Given the description of an element on the screen output the (x, y) to click on. 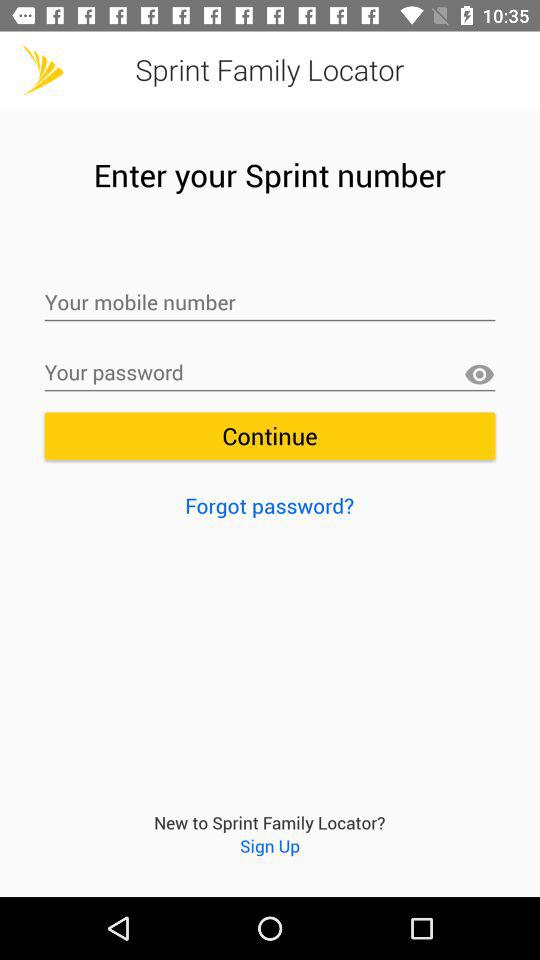
enter phone number (269, 303)
